Given the description of an element on the screen output the (x, y) to click on. 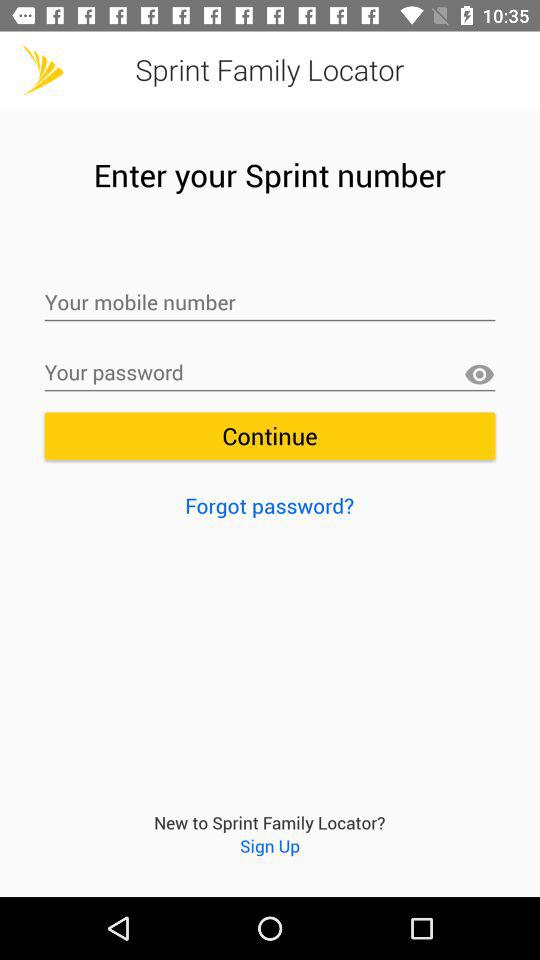
enter phone number (269, 303)
